Given the description of an element on the screen output the (x, y) to click on. 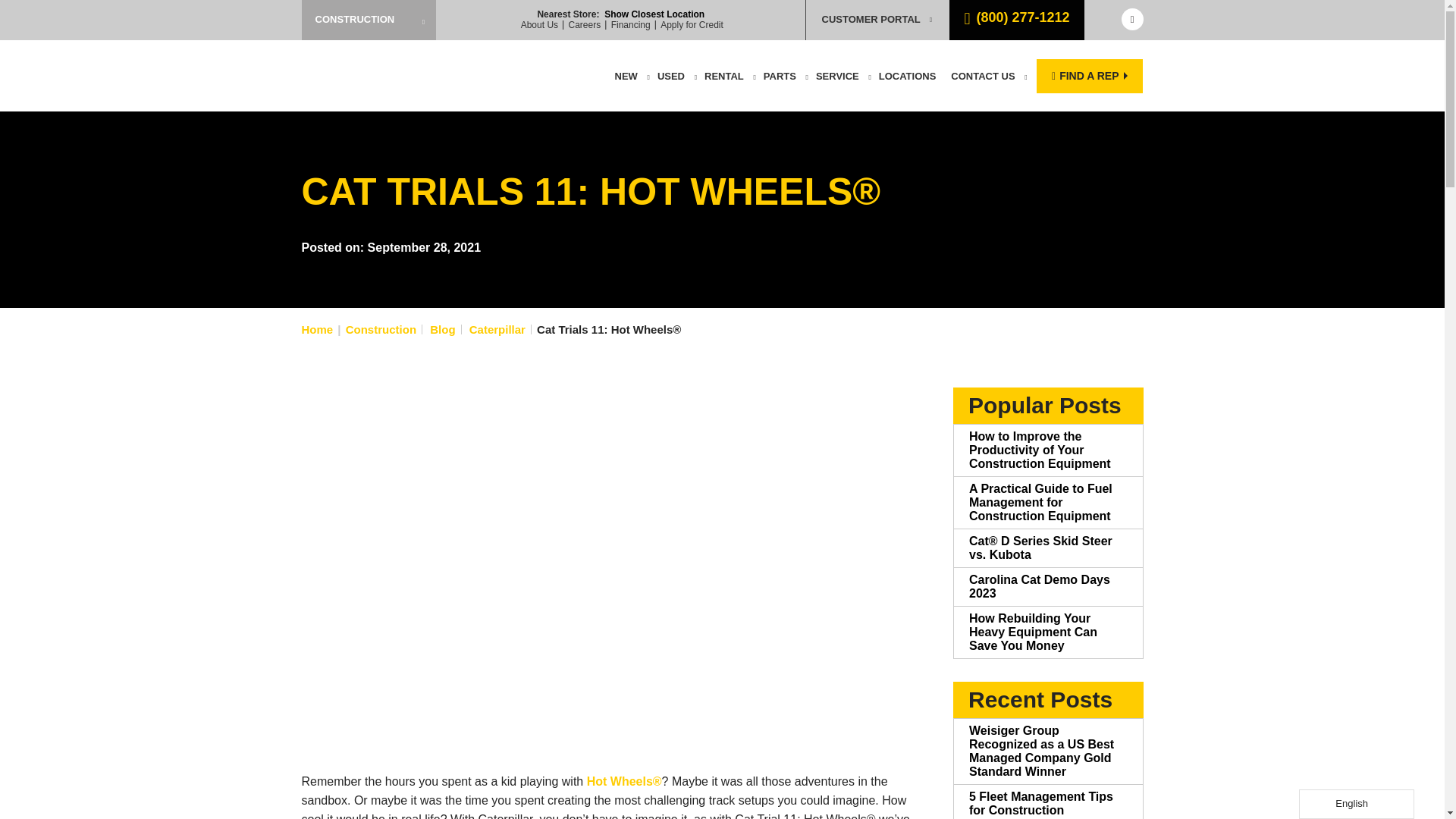
About Us (539, 24)
Careers (585, 24)
NEW (626, 75)
Financing (630, 24)
USED (671, 75)
Apply for Credit (692, 24)
RENTAL (724, 75)
PARTS (779, 75)
Show Closest Location (654, 14)
